Given the description of an element on the screen output the (x, y) to click on. 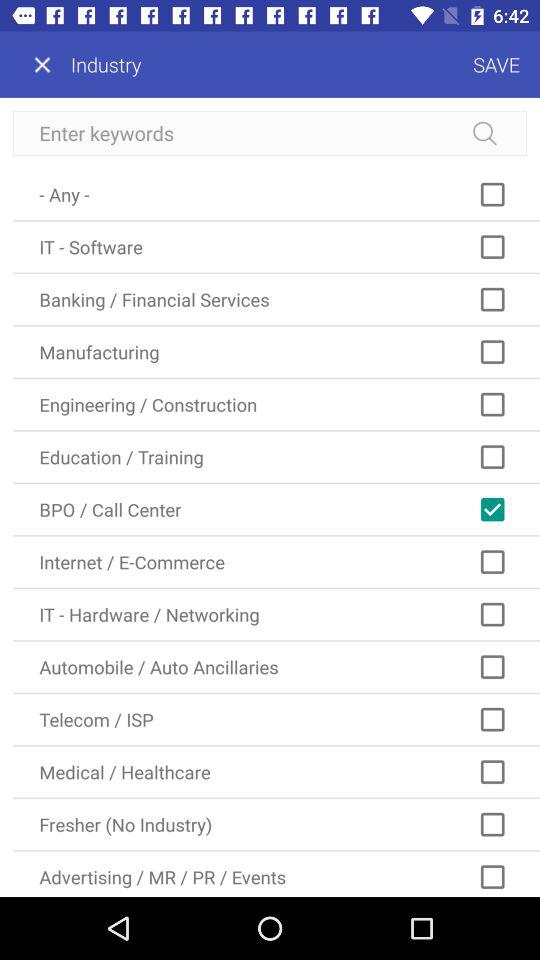
turn off the icon below the it - software icon (276, 299)
